Given the description of an element on the screen output the (x, y) to click on. 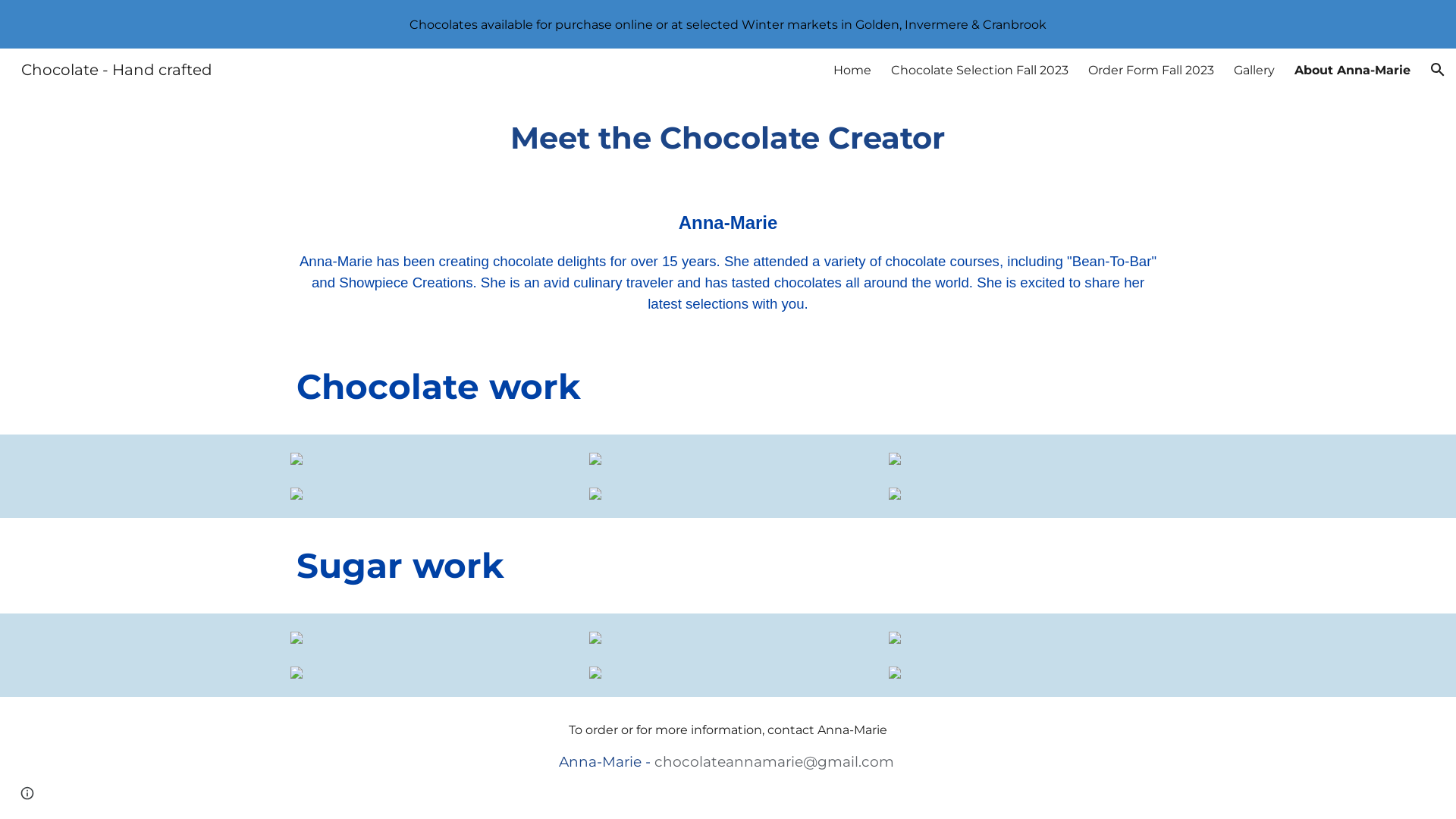
Chocolate - Hand crafted Element type: text (116, 68)
Order Form Fall 2023 Element type: text (1151, 69)
Home Element type: text (852, 69)
Gallery Element type: text (1253, 69)
About Anna-Marie Element type: text (1352, 69)
Chocolate Selection Fall 2023 Element type: text (979, 69)
